Given the description of an element on the screen output the (x, y) to click on. 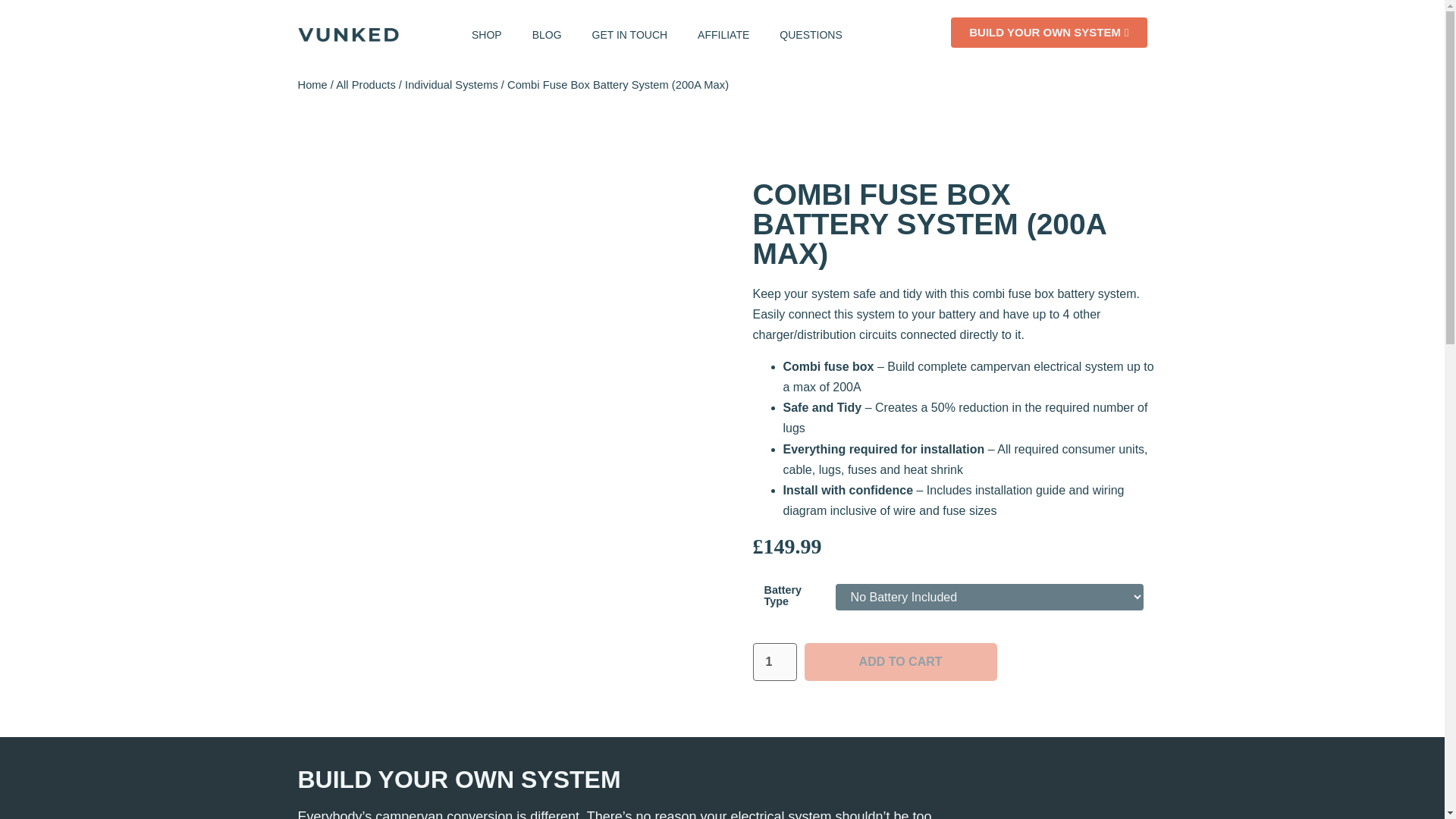
QUESTIONS (810, 34)
1 (774, 661)
SHOP (486, 34)
BUILD YOUR OWN SYSTEM (1048, 32)
BLOG (546, 34)
GET IN TOUCH (629, 34)
AFFILIATE (723, 34)
